Given the description of an element on the screen output the (x, y) to click on. 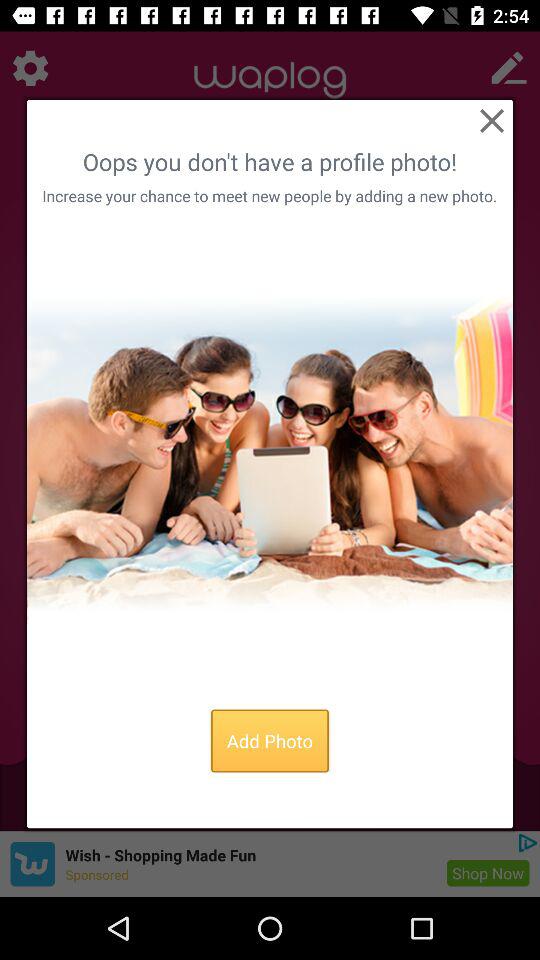
stock profile photo (270, 453)
